Given the description of an element on the screen output the (x, y) to click on. 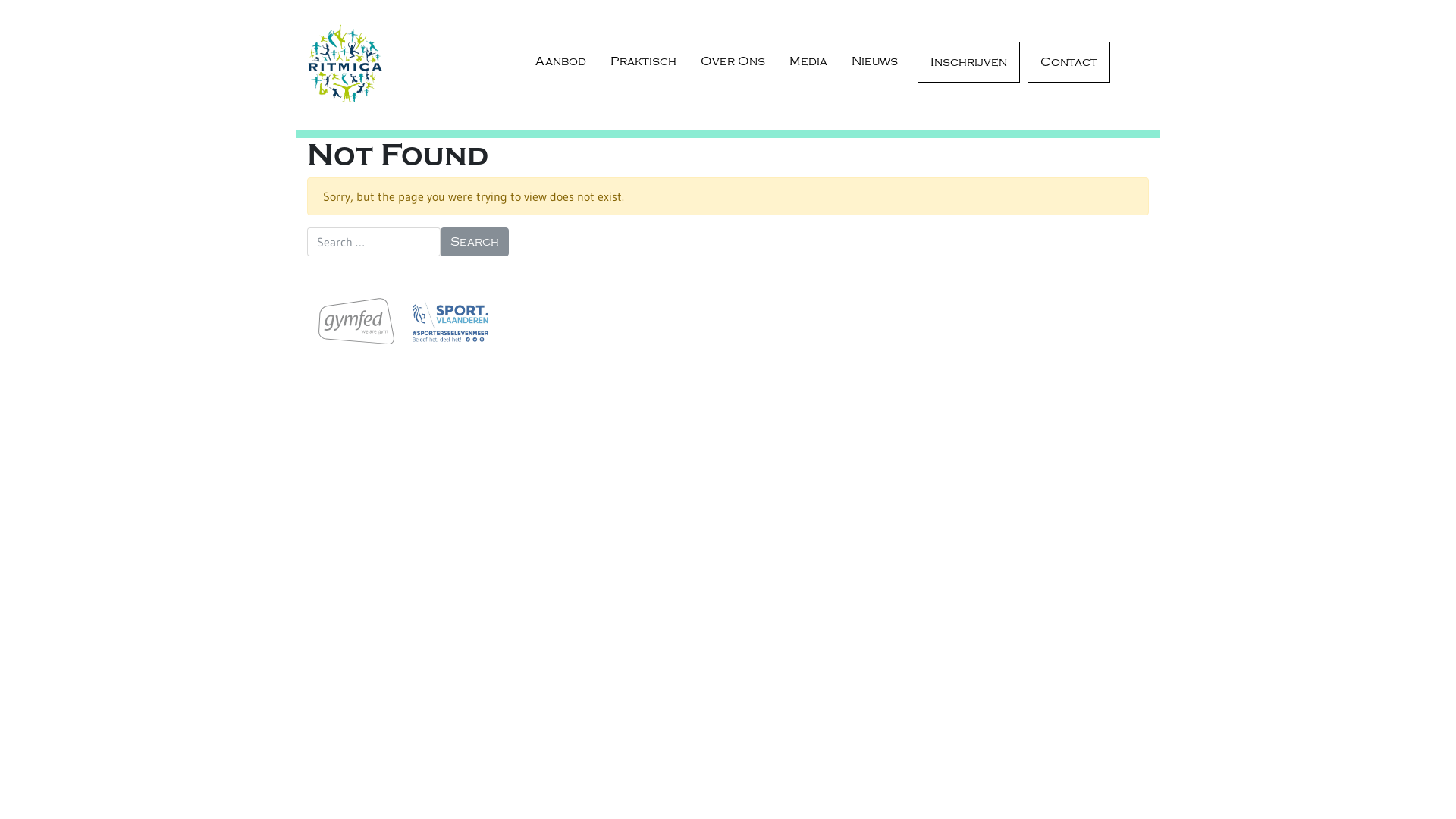
Search Element type: text (474, 241)
Ritmica Element type: hover (344, 62)
Media Element type: text (808, 61)
Contact Element type: text (1068, 61)
Logo Sport Vlaanderen Element type: hover (450, 321)
Over Ons Element type: text (732, 61)
Aanbod Element type: text (560, 61)
gymfed_grijs Element type: hover (356, 321)
Inschrijven Element type: text (968, 61)
Praktisch Element type: text (643, 61)
Nieuws Element type: text (874, 61)
